Given the description of an element on the screen output the (x, y) to click on. 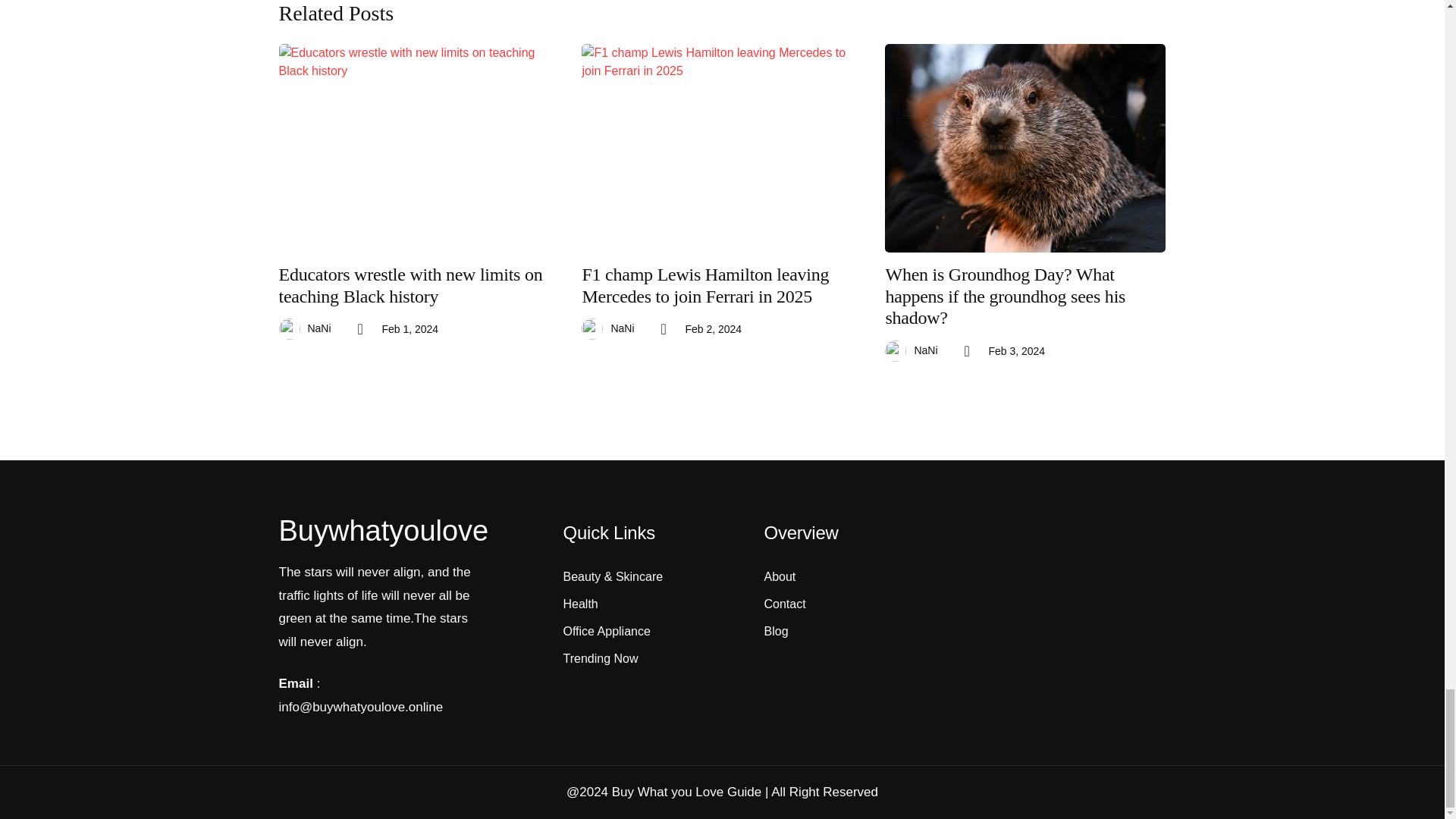
NaNi (621, 328)
Educators wrestle with new limits on teaching Black history (419, 285)
NaNi (319, 328)
Health (636, 604)
NaNi (925, 350)
